Given the description of an element on the screen output the (x, y) to click on. 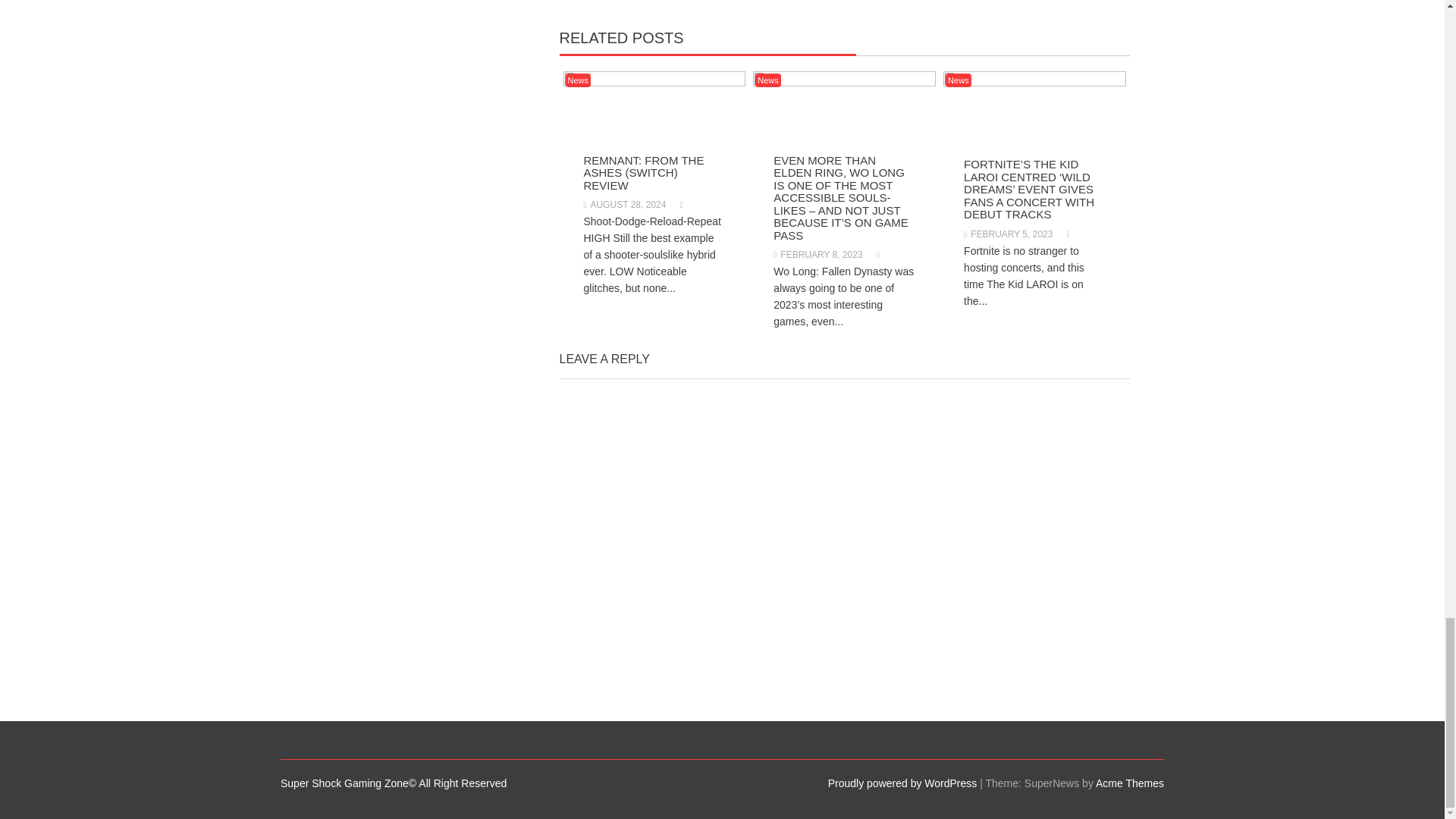
News (578, 79)
AUGUST 28, 2024 (624, 204)
